Given the description of an element on the screen output the (x, y) to click on. 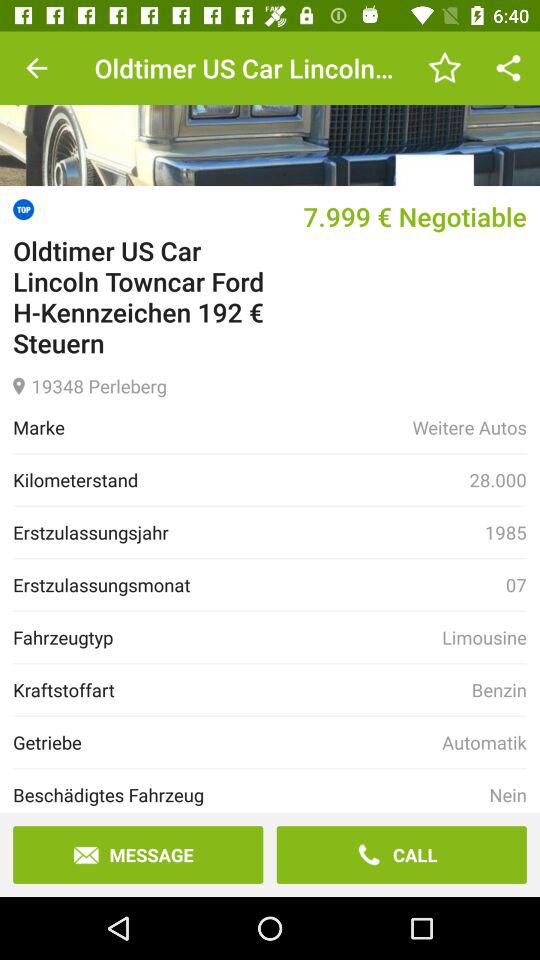
click item below 19348 perleberg item (469, 427)
